Given the description of an element on the screen output the (x, y) to click on. 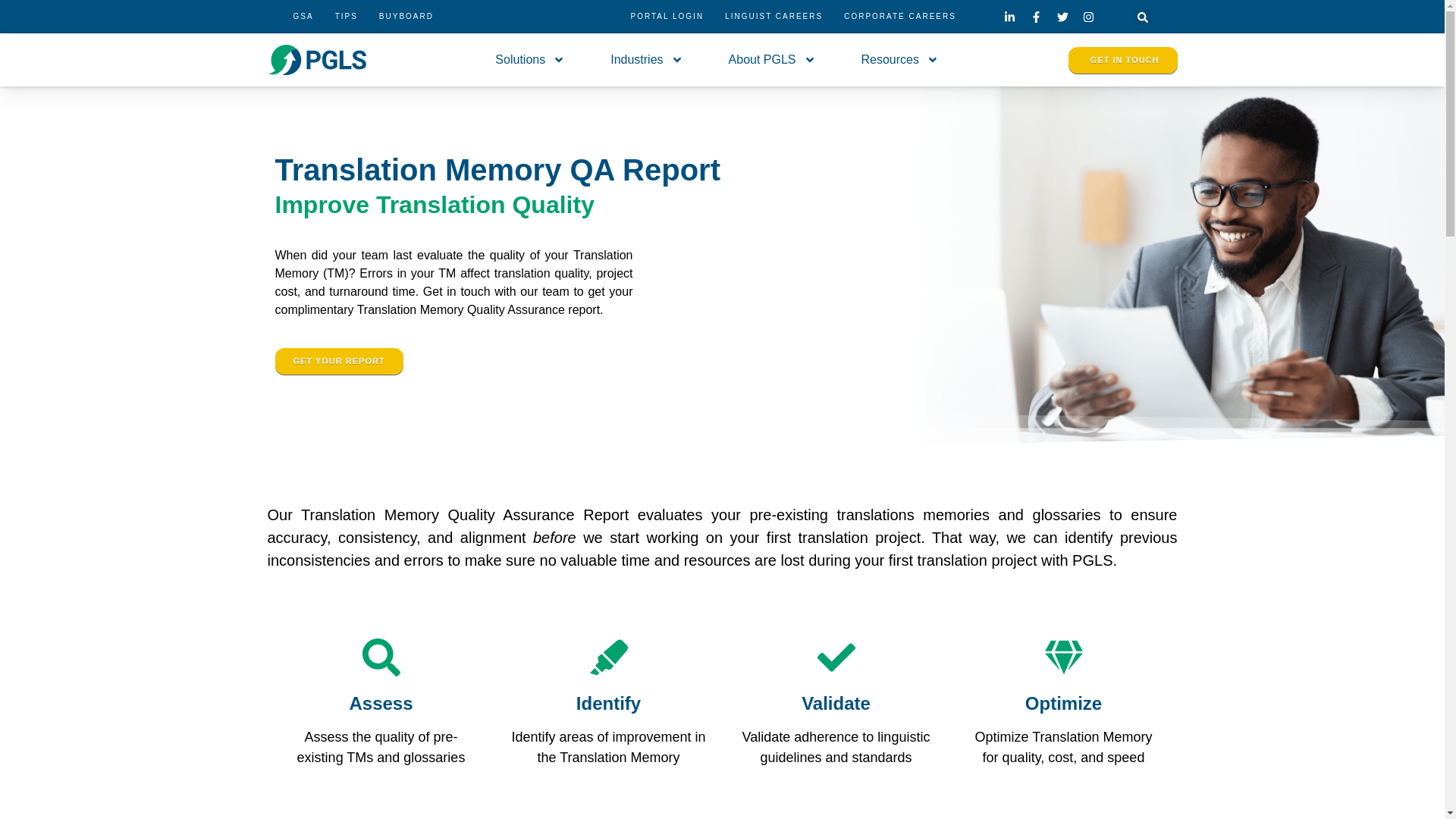
LINGUIST CAREERS (773, 16)
GSA (302, 16)
Solutions (529, 59)
PORTAL LOGIN (667, 16)
BUYBOARD (406, 16)
TIPS (346, 16)
CORPORATE CAREERS (899, 16)
Industries (646, 59)
